Given the description of an element on the screen output the (x, y) to click on. 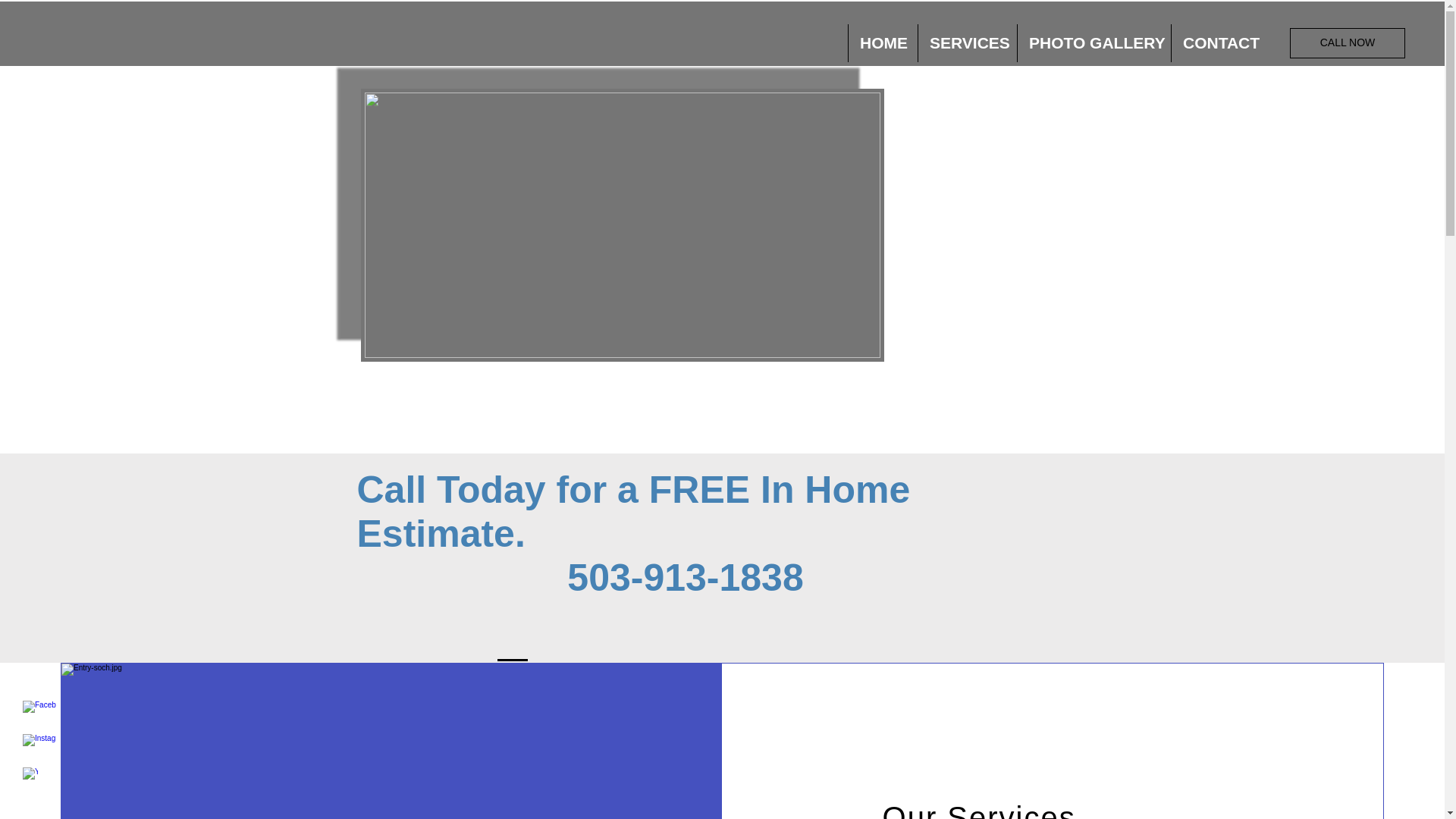
SERVICES (966, 43)
CONTACT (1219, 43)
PHOTO GALLERY (1093, 43)
CALL NOW (1347, 42)
HOME (882, 43)
